Given the description of an element on the screen output the (x, y) to click on. 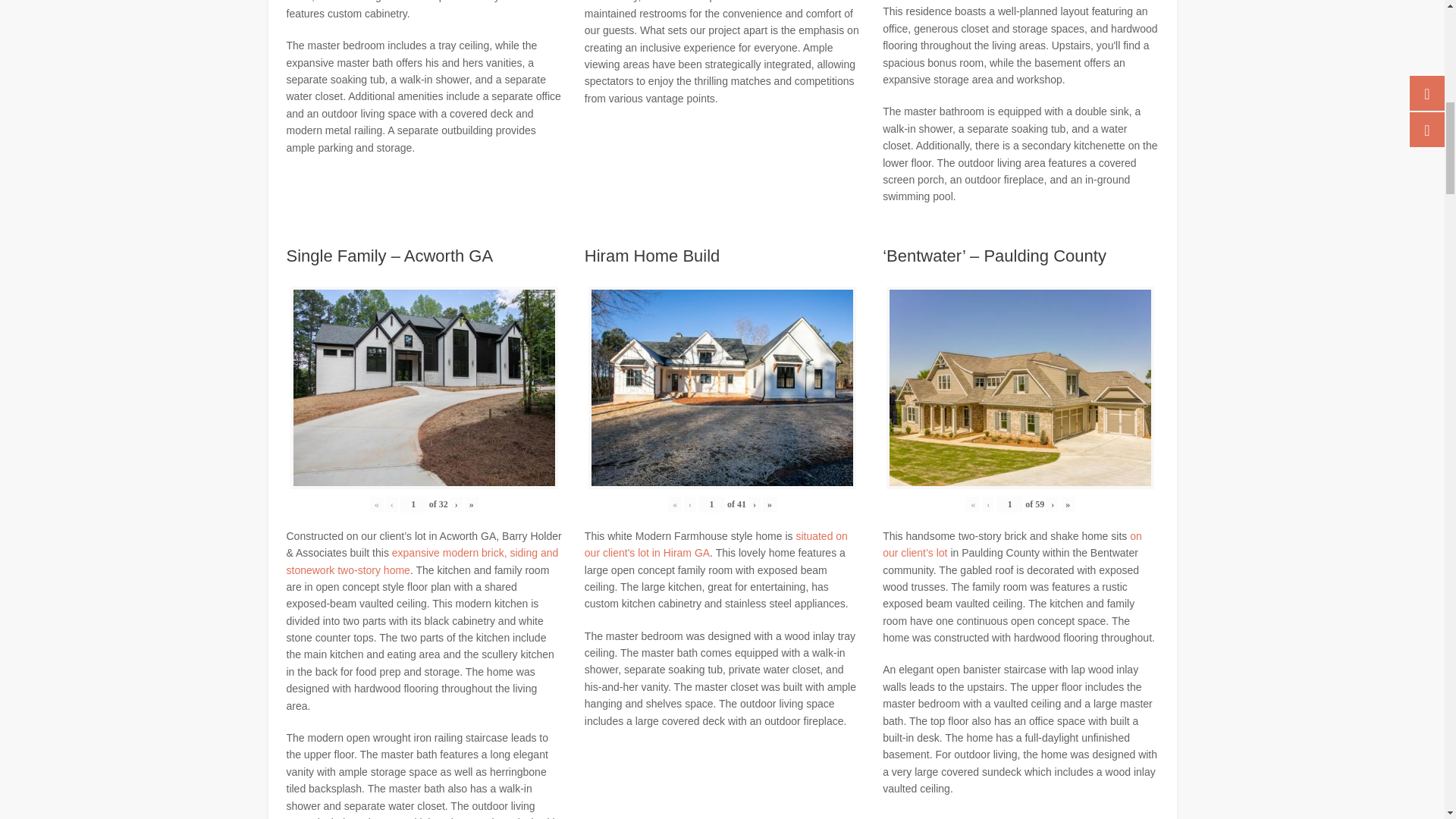
1 (1009, 504)
1 (711, 504)
1 (413, 504)
